Given the description of an element on the screen output the (x, y) to click on. 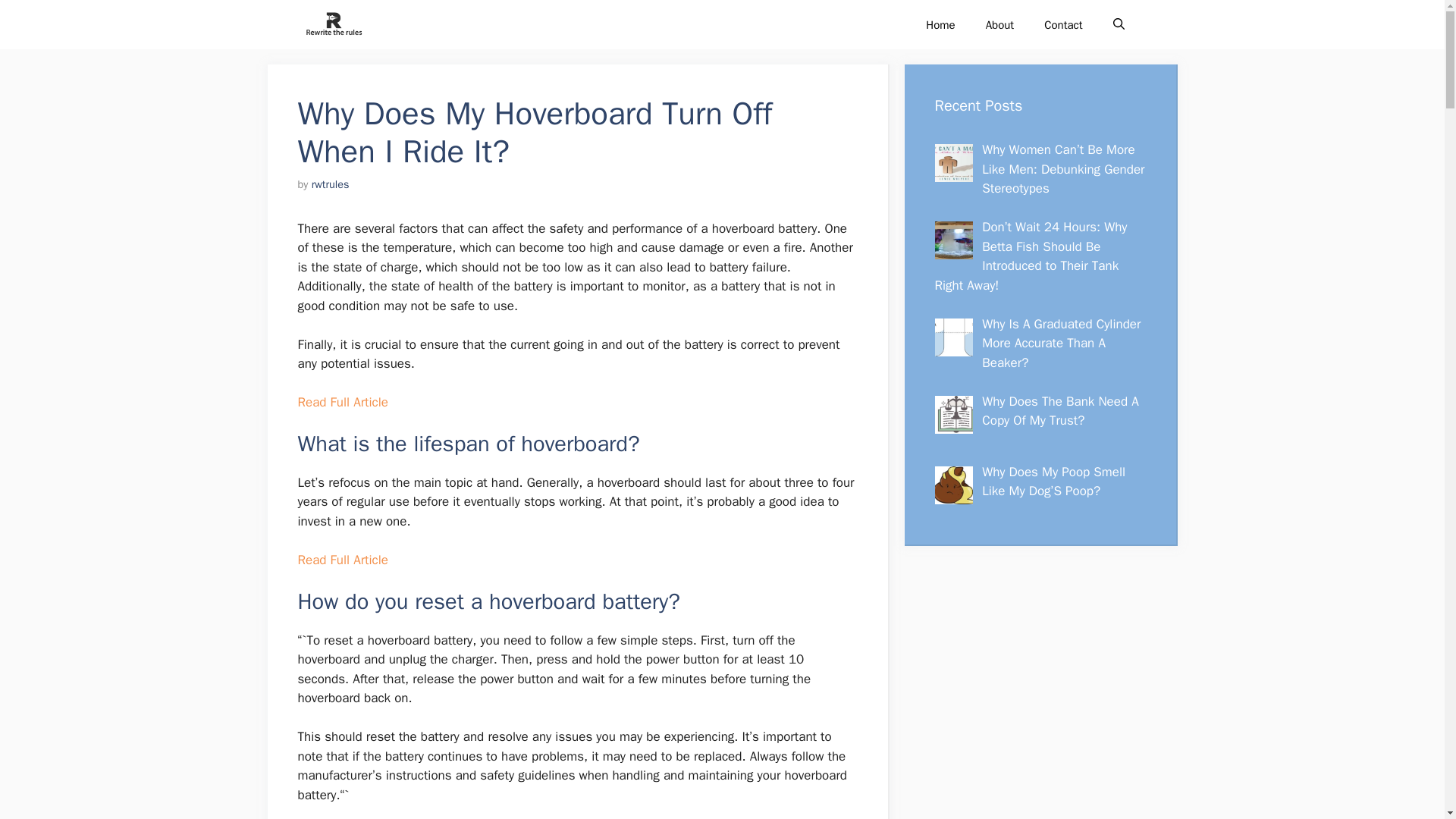
Contact (1063, 23)
rwtrules (330, 183)
About (1000, 23)
View all posts by rwtrules (330, 183)
Home (940, 23)
Read Full Article (342, 560)
Rewrite The Rules (332, 24)
Read Full Article (342, 401)
